Given the description of an element on the screen output the (x, y) to click on. 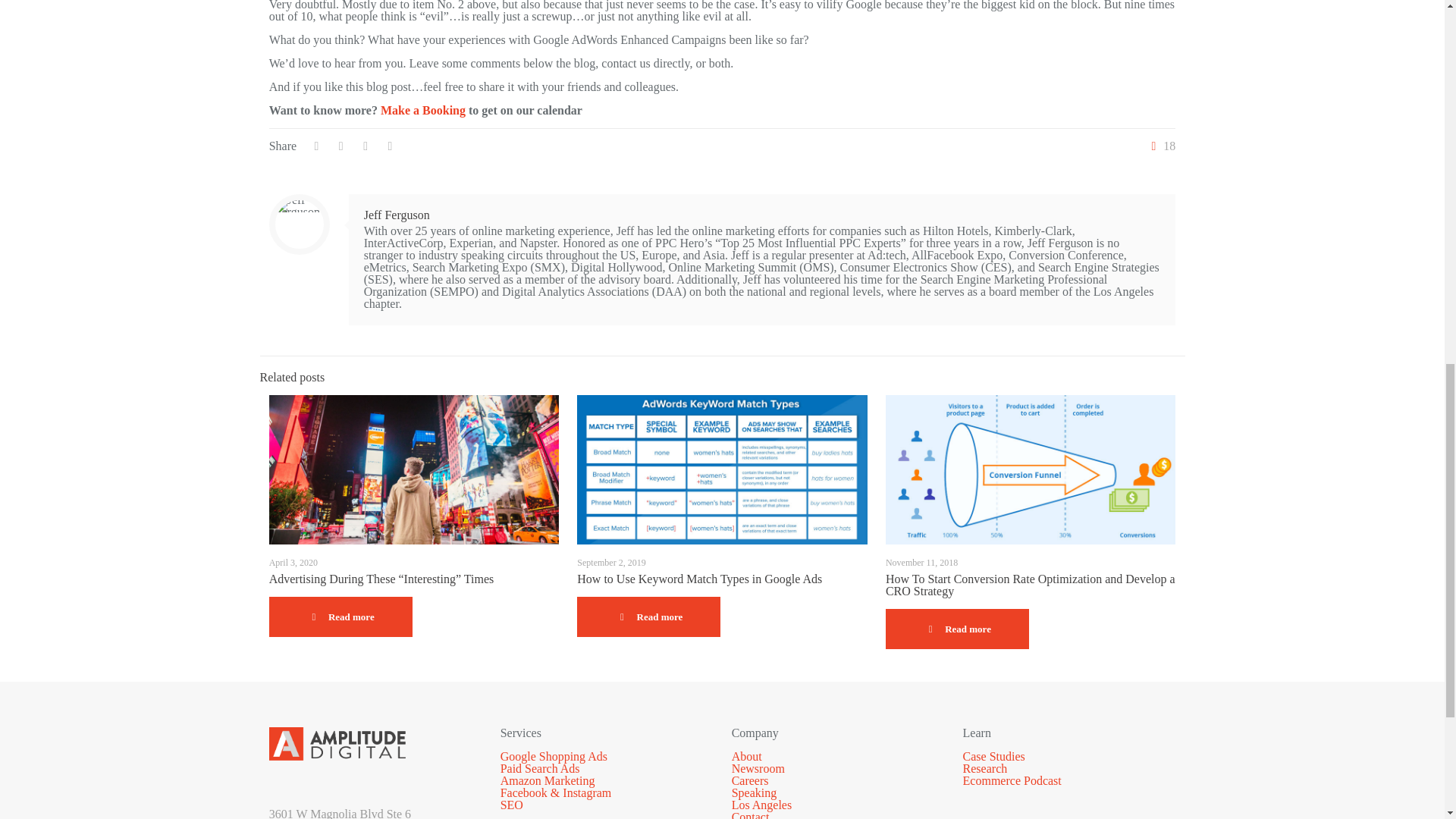
How to Use Keyword Match Types in Google Ads 4 (721, 469)
